Given the description of an element on the screen output the (x, y) to click on. 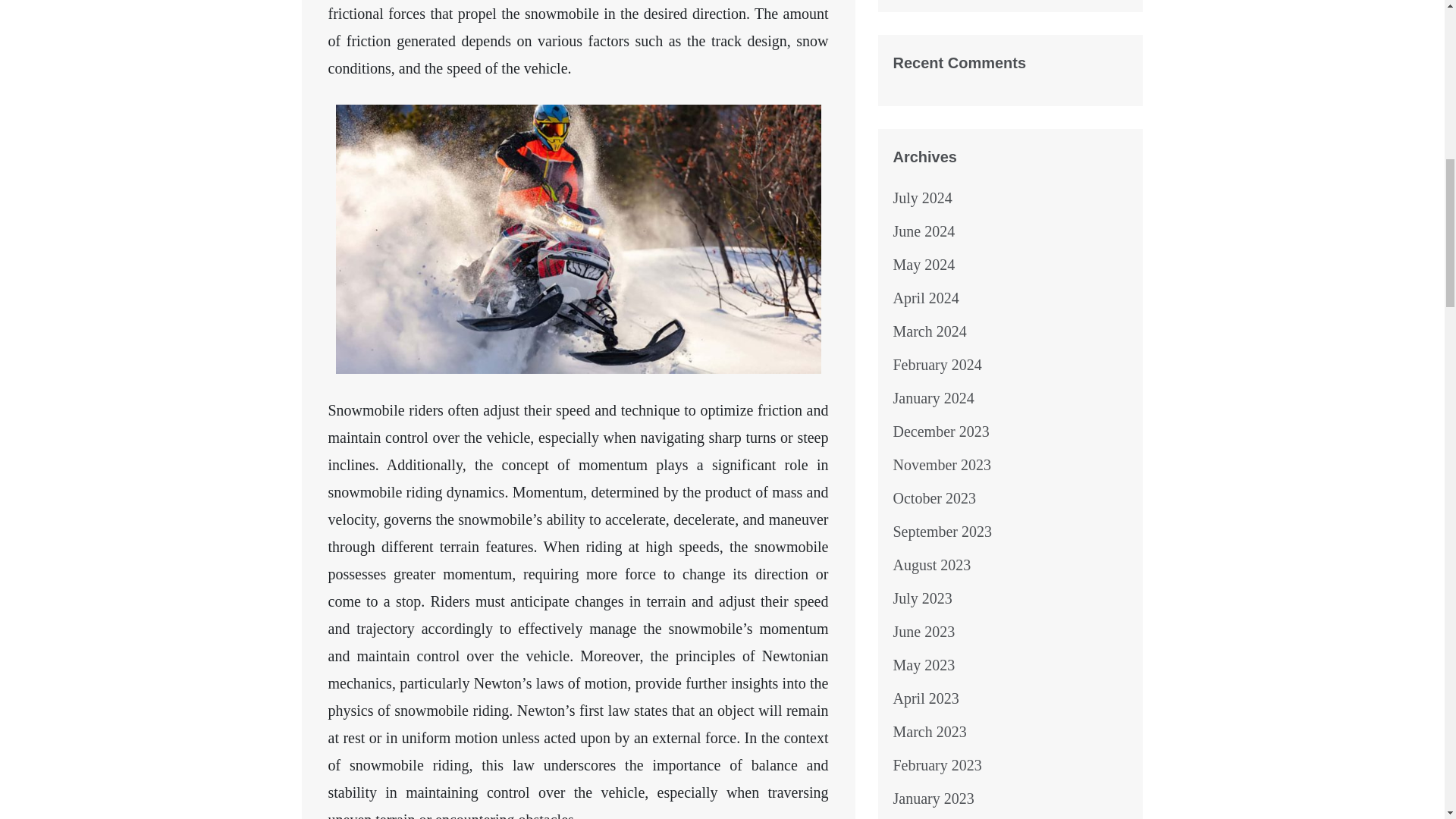
December 2023 (941, 431)
October 2023 (934, 497)
July 2024 (922, 197)
May 2024 (924, 264)
February 2023 (937, 764)
January 2024 (933, 397)
March 2023 (929, 731)
January 2023 (933, 798)
August 2023 (932, 564)
April 2023 (926, 698)
July 2023 (922, 597)
March 2024 (929, 330)
February 2024 (937, 364)
June 2023 (924, 631)
November 2023 (942, 464)
